Given the description of an element on the screen output the (x, y) to click on. 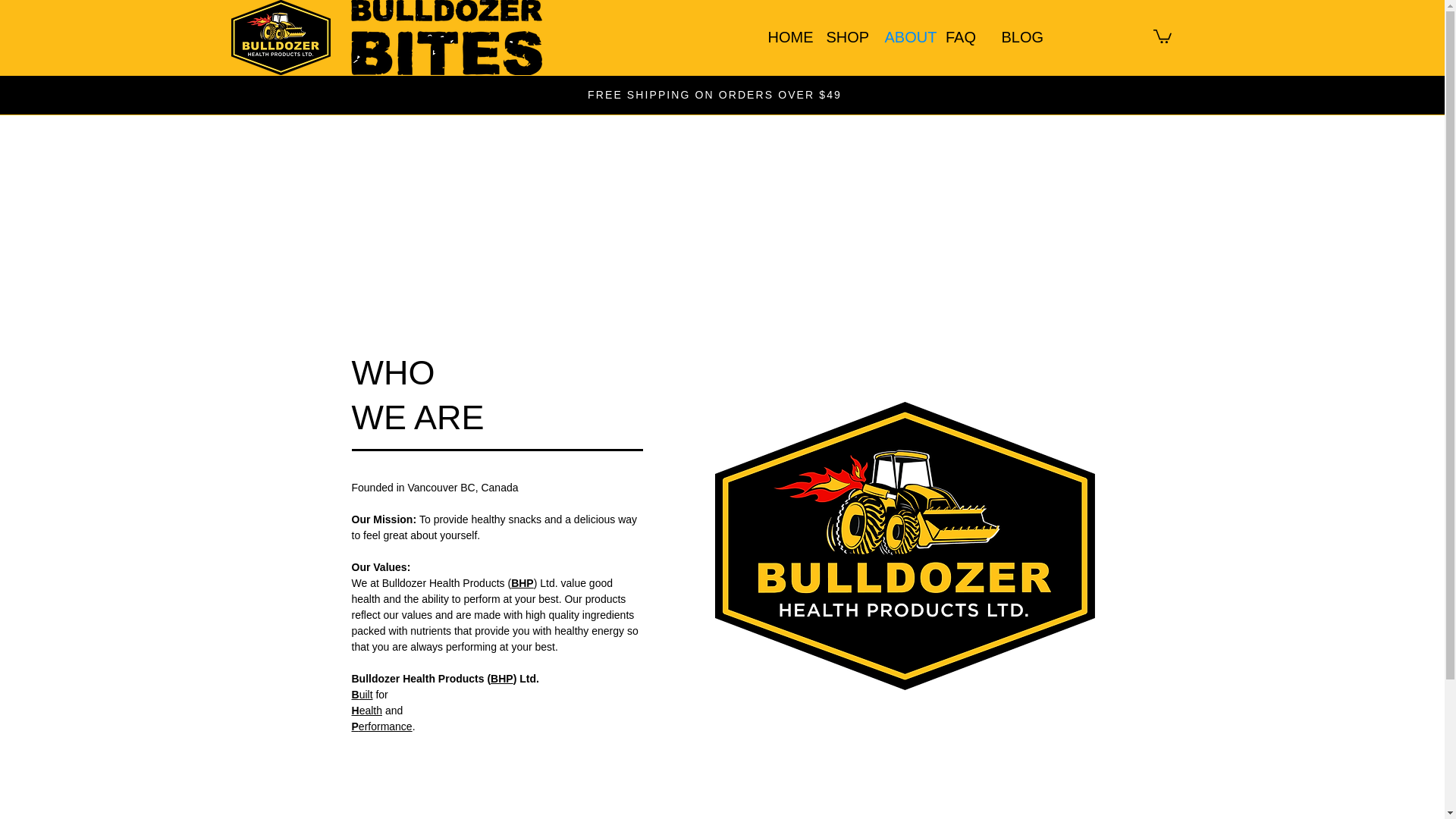
HOME (786, 36)
800px.jpg (904, 546)
ABOUT (902, 36)
SHOP (842, 36)
BLOG (1019, 36)
FAQ (960, 36)
